Given the description of an element on the screen output the (x, y) to click on. 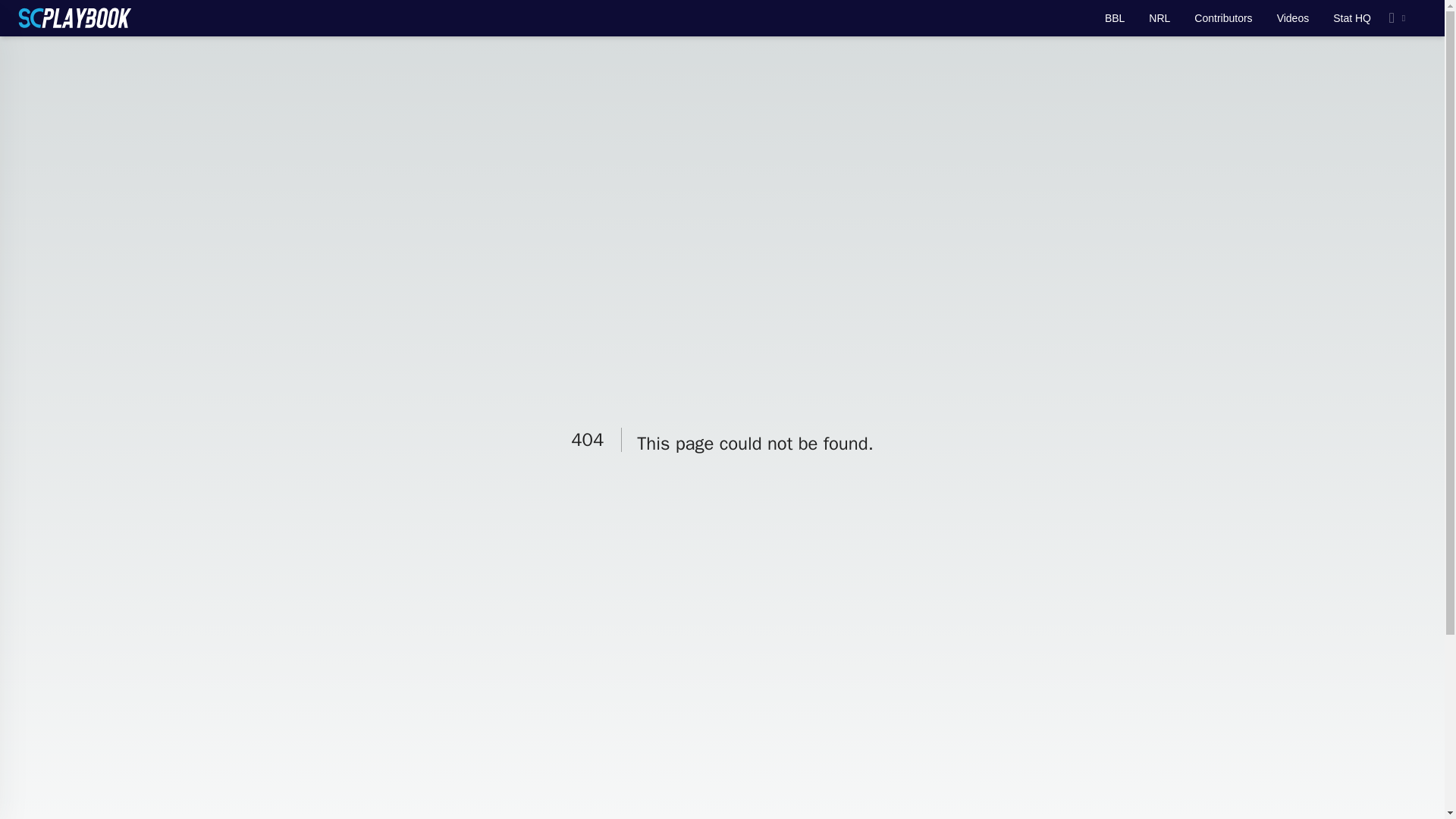
BBL (1114, 18)
NRL (1159, 18)
Contributors (1222, 18)
Videos (1292, 18)
Stat HQ (1352, 18)
